Given the description of an element on the screen output the (x, y) to click on. 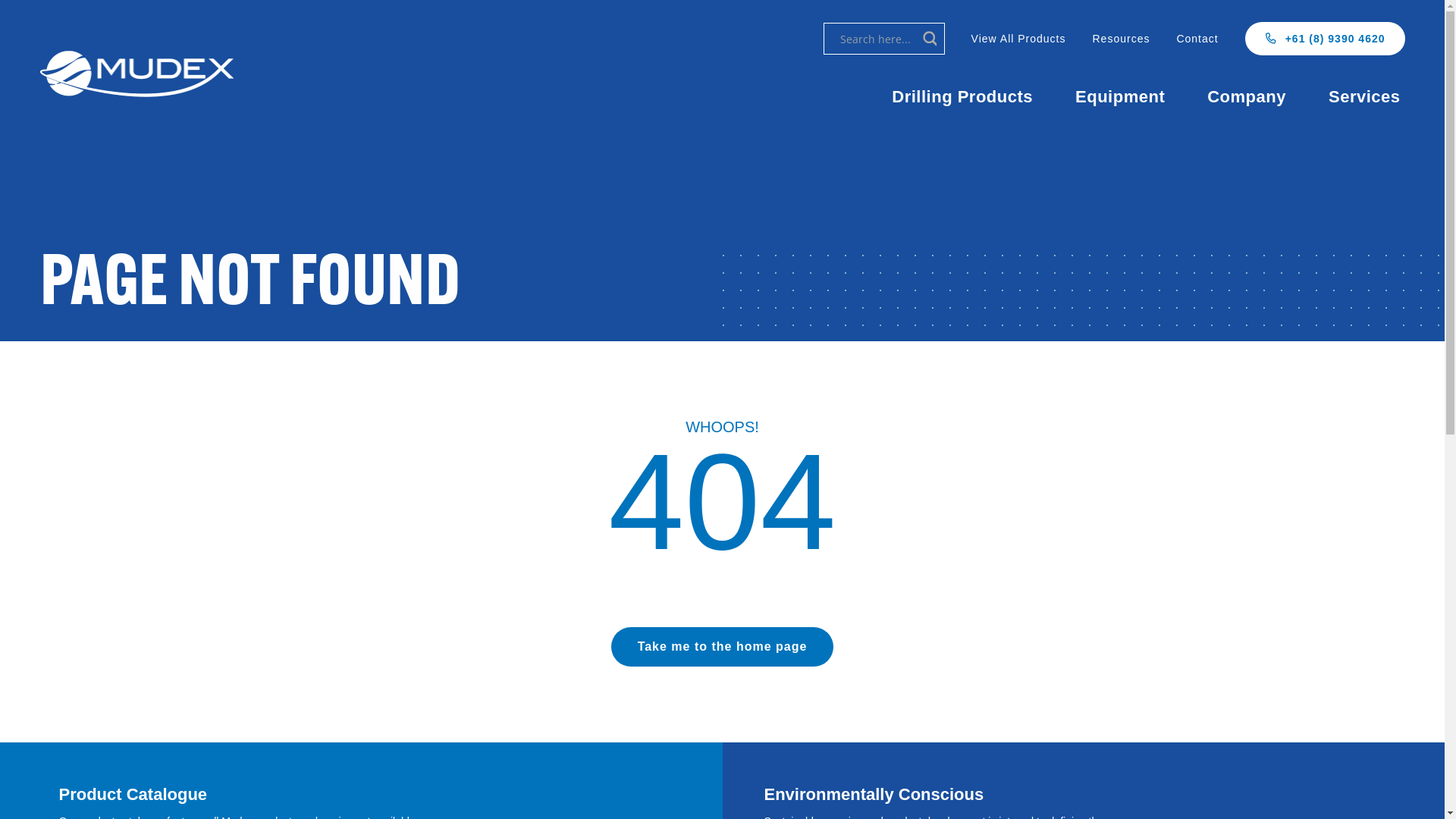
Resources Element type: text (1120, 38)
Drilling Products Element type: text (964, 96)
Contact Element type: text (1196, 38)
Take me to the home page Element type: text (722, 646)
+61 (8) 9390 4620 Element type: text (1325, 38)
Services Element type: text (1366, 96)
Company Element type: text (1248, 96)
Equipment Element type: text (1121, 96)
View All Products Element type: text (1018, 38)
